Given the description of an element on the screen output the (x, y) to click on. 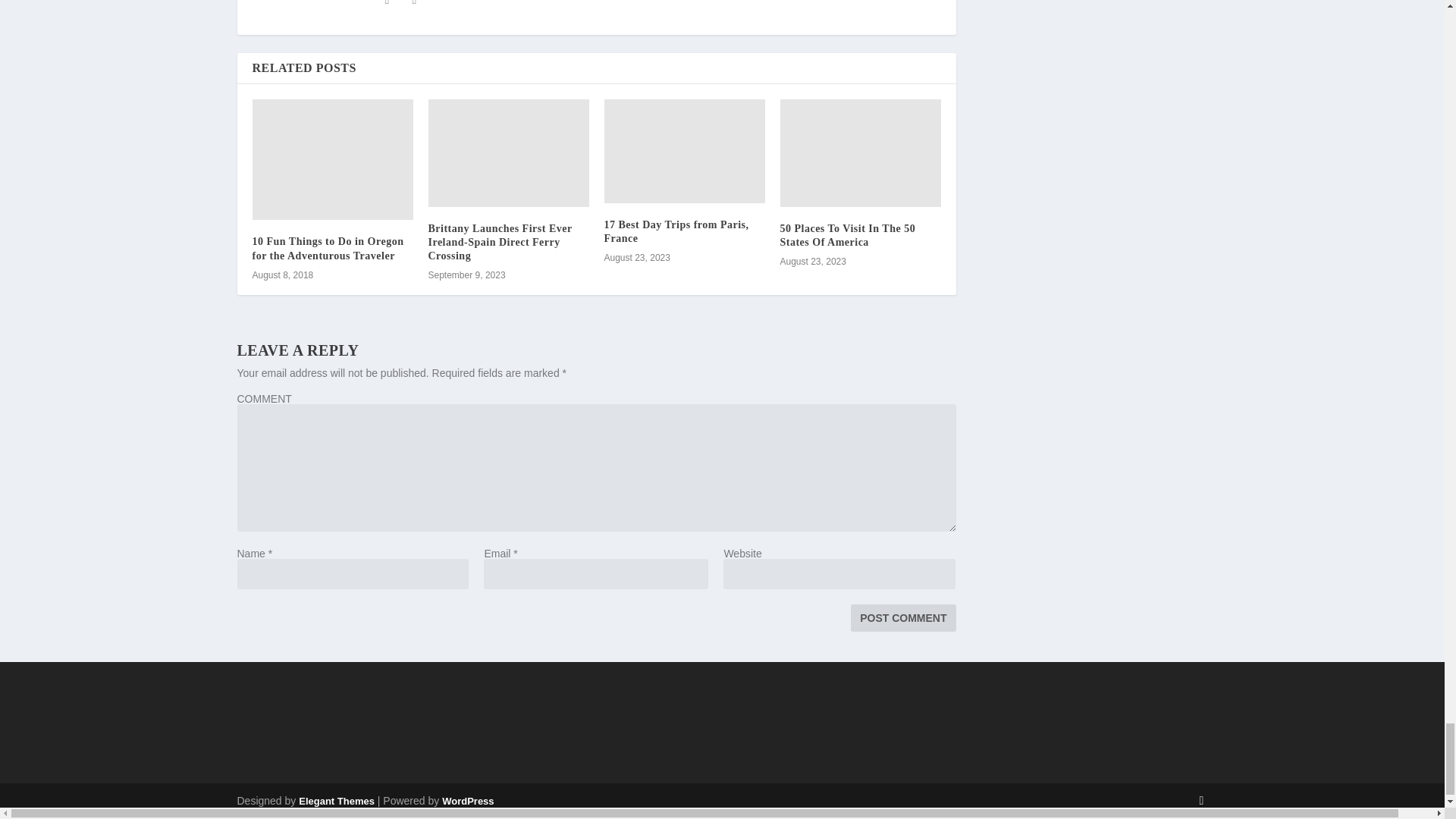
Post Comment (902, 617)
